Given the description of an element on the screen output the (x, y) to click on. 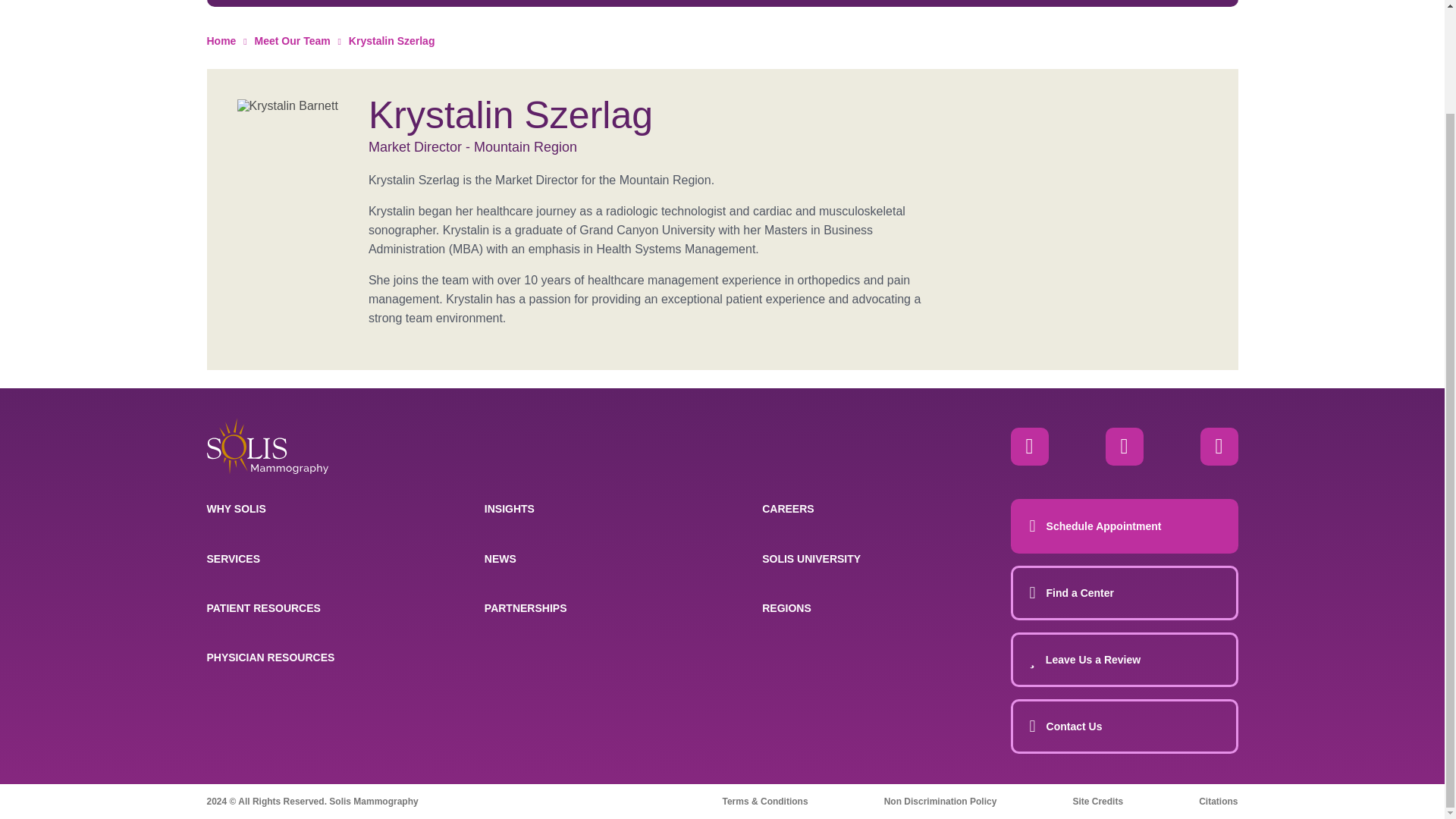
PHYSICIANS (846, 3)
Home (266, 446)
CAREERS (987, 3)
WHY SOLIS (282, 3)
INSIGHTS (706, 3)
PATIENTS (565, 3)
SERVICES (424, 3)
PARTNERSHIPS (1128, 3)
